Given the description of an element on the screen output the (x, y) to click on. 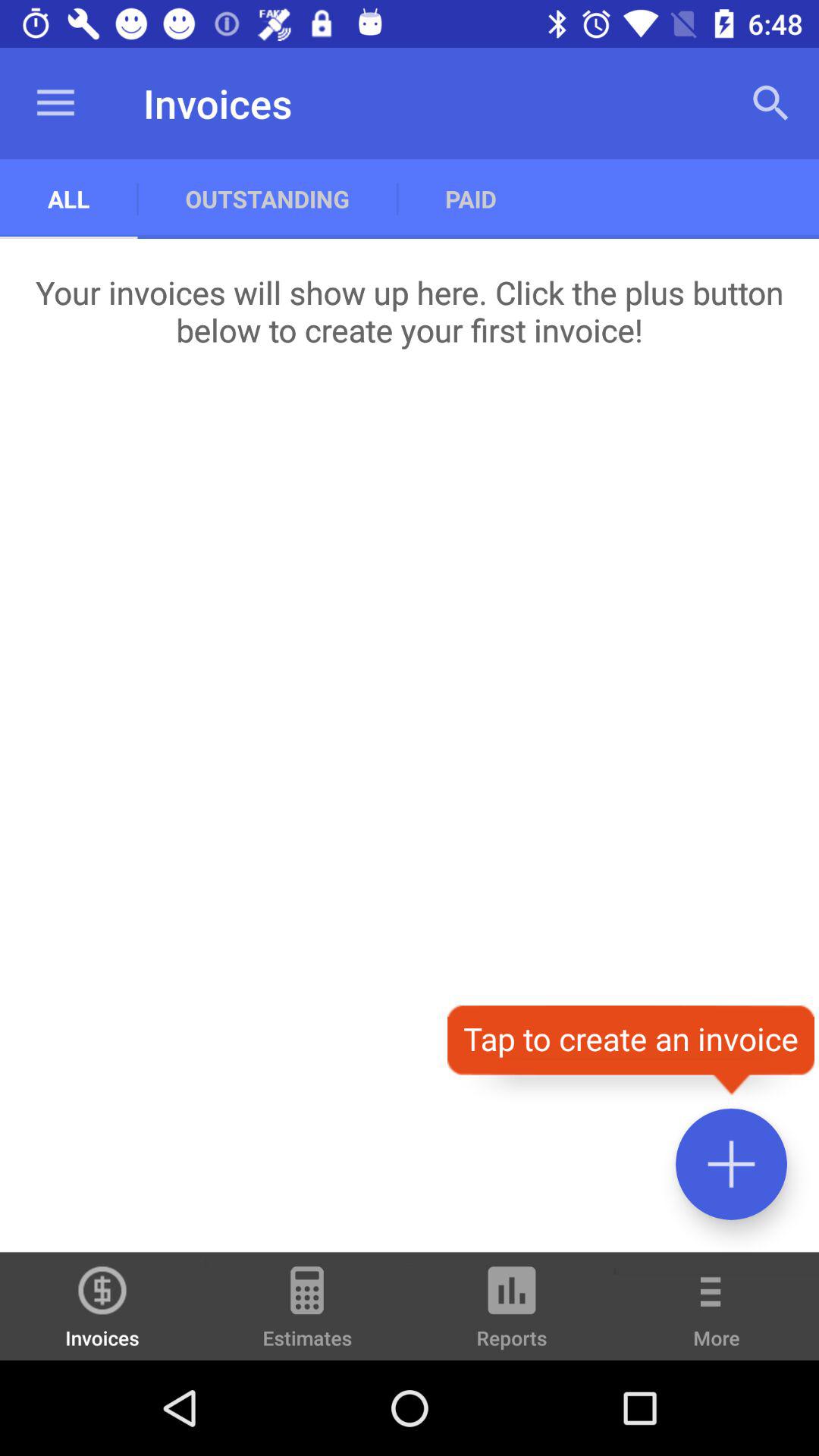
launch the app to the left of the outstanding (55, 103)
